Given the description of an element on the screen output the (x, y) to click on. 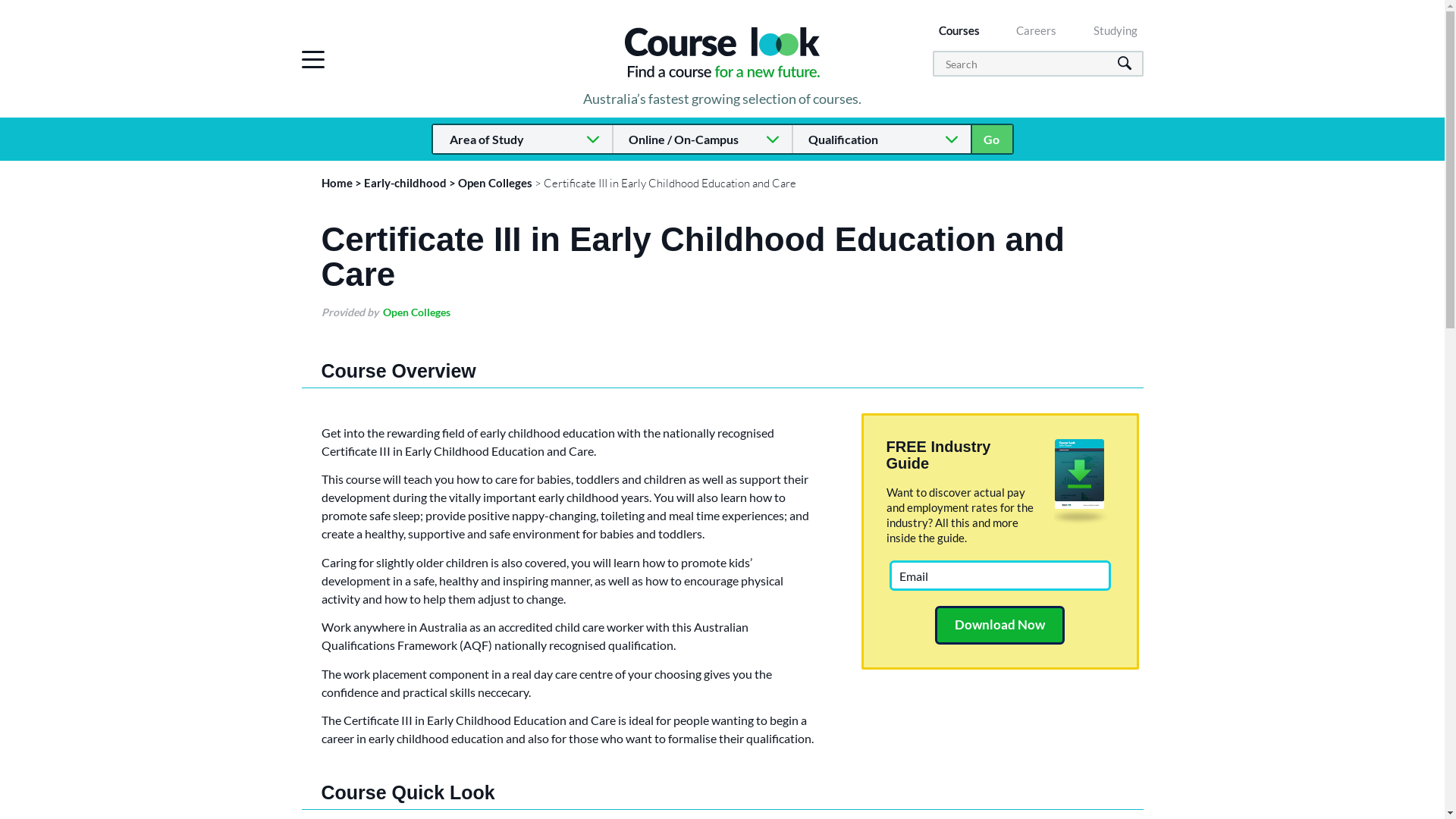
Open Colleges Element type: text (495, 182)
Online / On-Campus Element type: text (701, 139)
Download Now Element type: text (999, 624)
Careers Element type: text (1036, 30)
Menu Element type: text (312, 59)
Go Element type: text (990, 139)
Courses Element type: text (958, 30)
Home Element type: text (336, 182)
Studying Element type: text (1115, 30)
Area of Study Element type: text (521, 139)
Early-childhood Element type: text (405, 182)
Qualification Element type: text (881, 139)
